Given the description of an element on the screen output the (x, y) to click on. 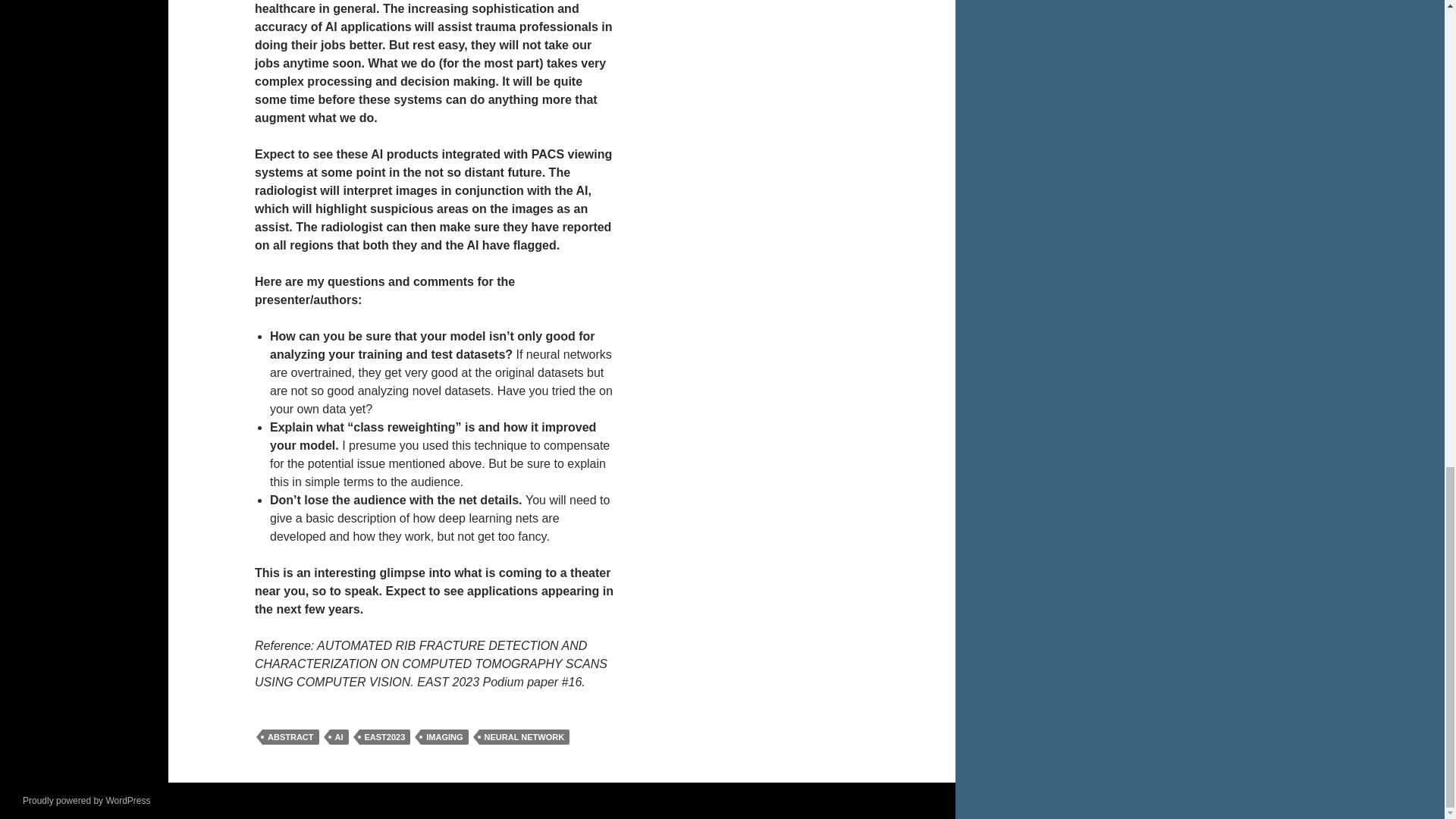
IMAGING (443, 736)
NEURAL NETWORK (524, 736)
ABSTRACT (290, 736)
AI (338, 736)
EAST2023 (384, 736)
